Given the description of an element on the screen output the (x, y) to click on. 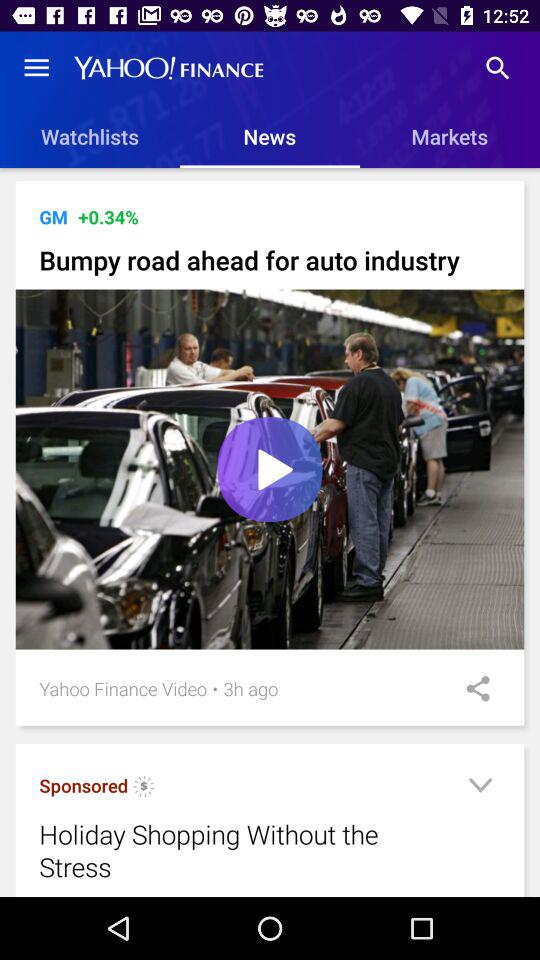
launch item above watchlists icon (36, 68)
